Given the description of an element on the screen output the (x, y) to click on. 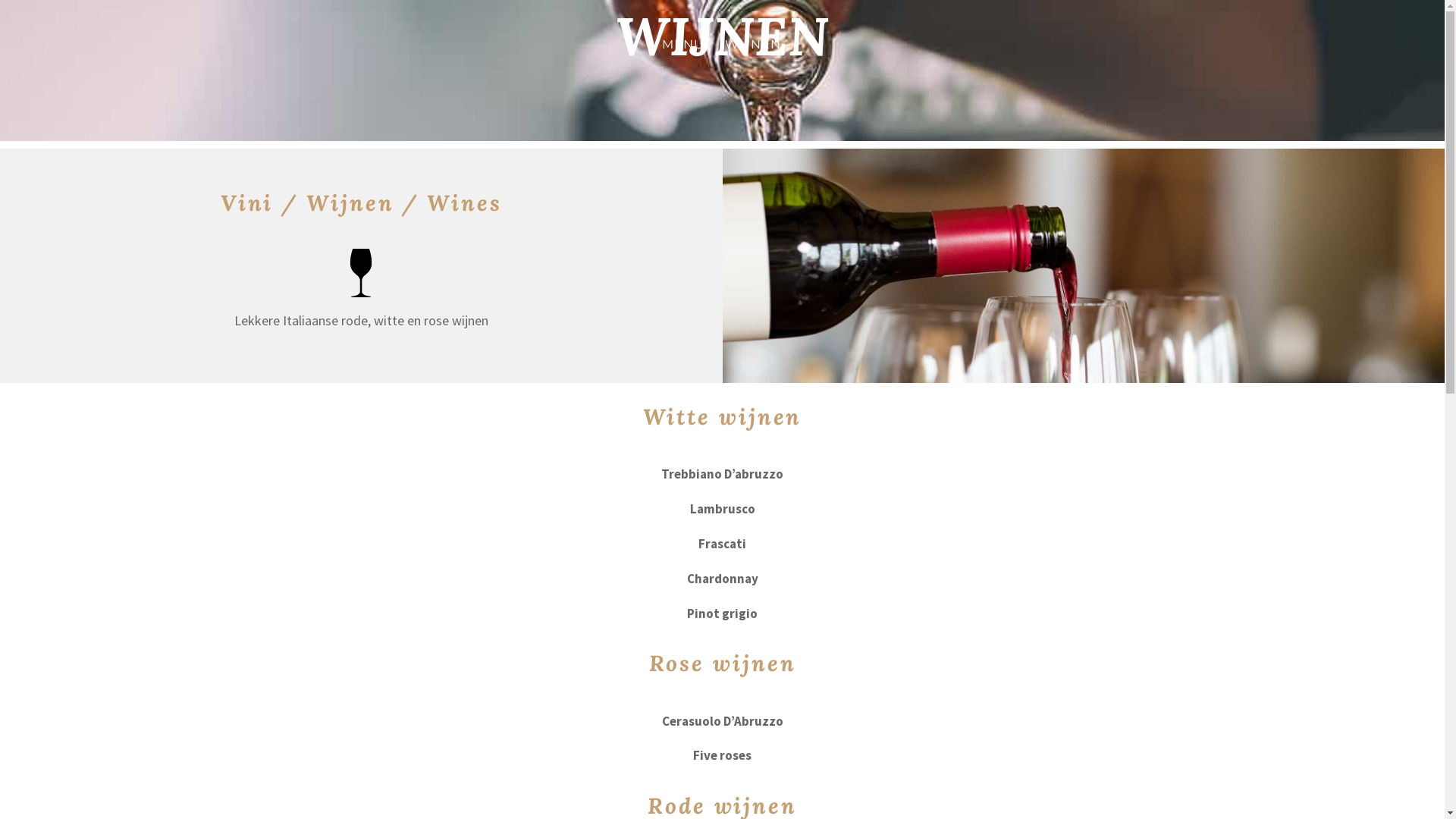
MENU Element type: text (683, 63)
WIJNEN Element type: text (752, 63)
